Given the description of an element on the screen output the (x, y) to click on. 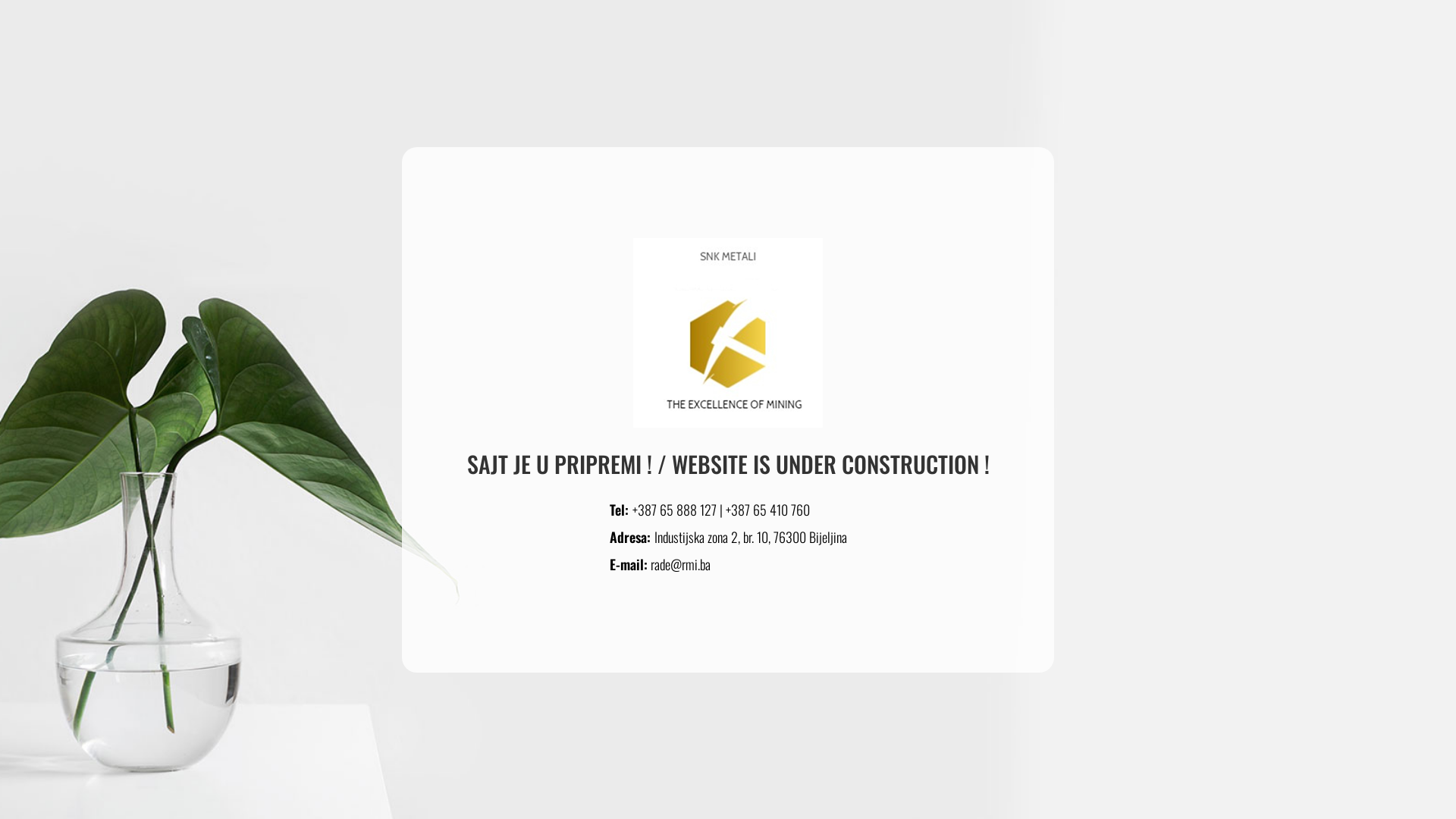
E-mail: rade@rmi.ba Element type: text (659, 563)
